Given the description of an element on the screen output the (x, y) to click on. 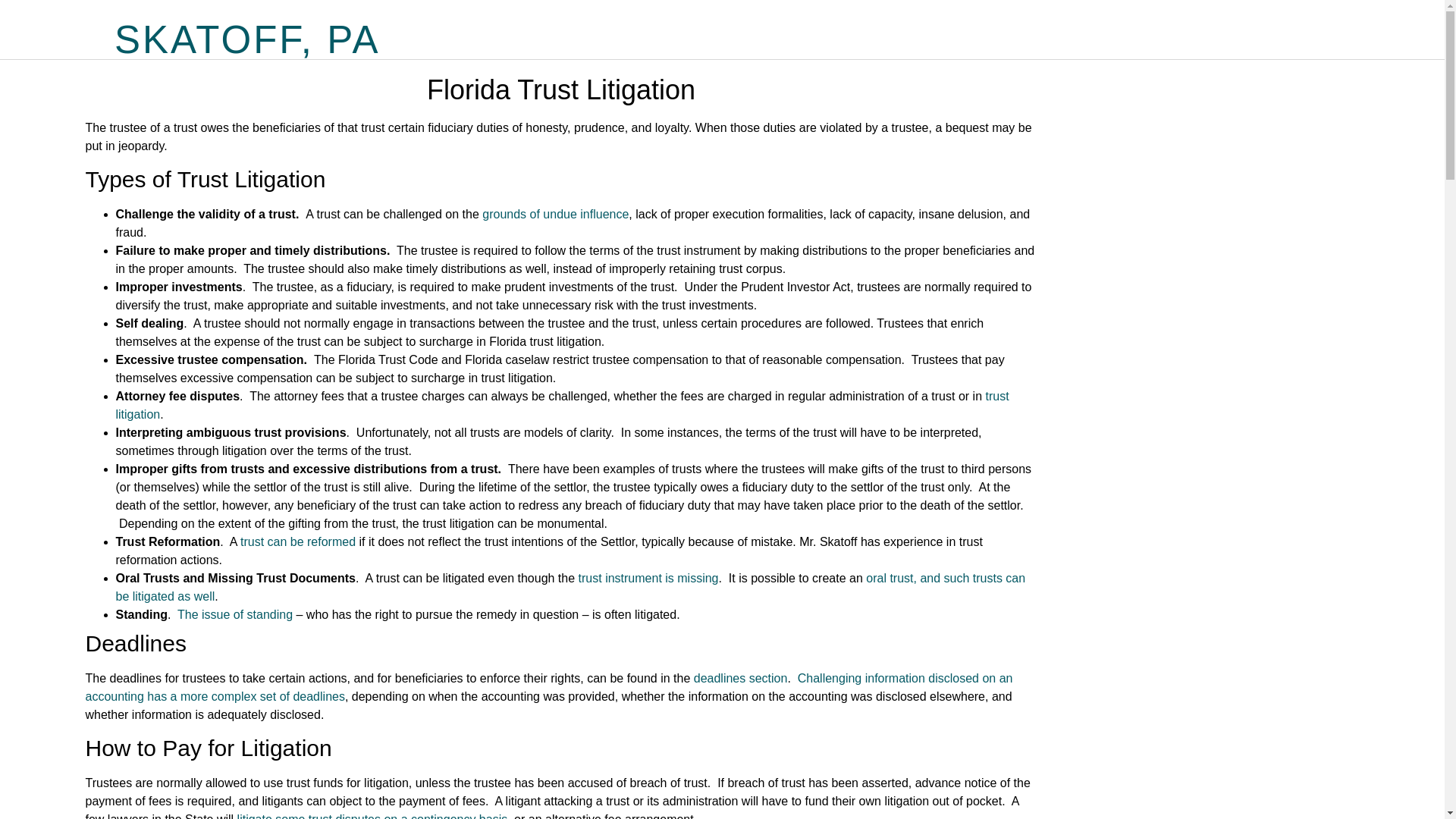
trust can be reformed (297, 541)
trust litigation (562, 404)
litigate some trust disputes on a contingency basis (372, 816)
oral trust, and such trusts can be litigated as well (570, 586)
grounds of undue influence (554, 214)
The issue of standing (234, 614)
trust instrument is missing (648, 577)
SKATOFF, PA (247, 39)
deadlines section (740, 677)
